Given the description of an element on the screen output the (x, y) to click on. 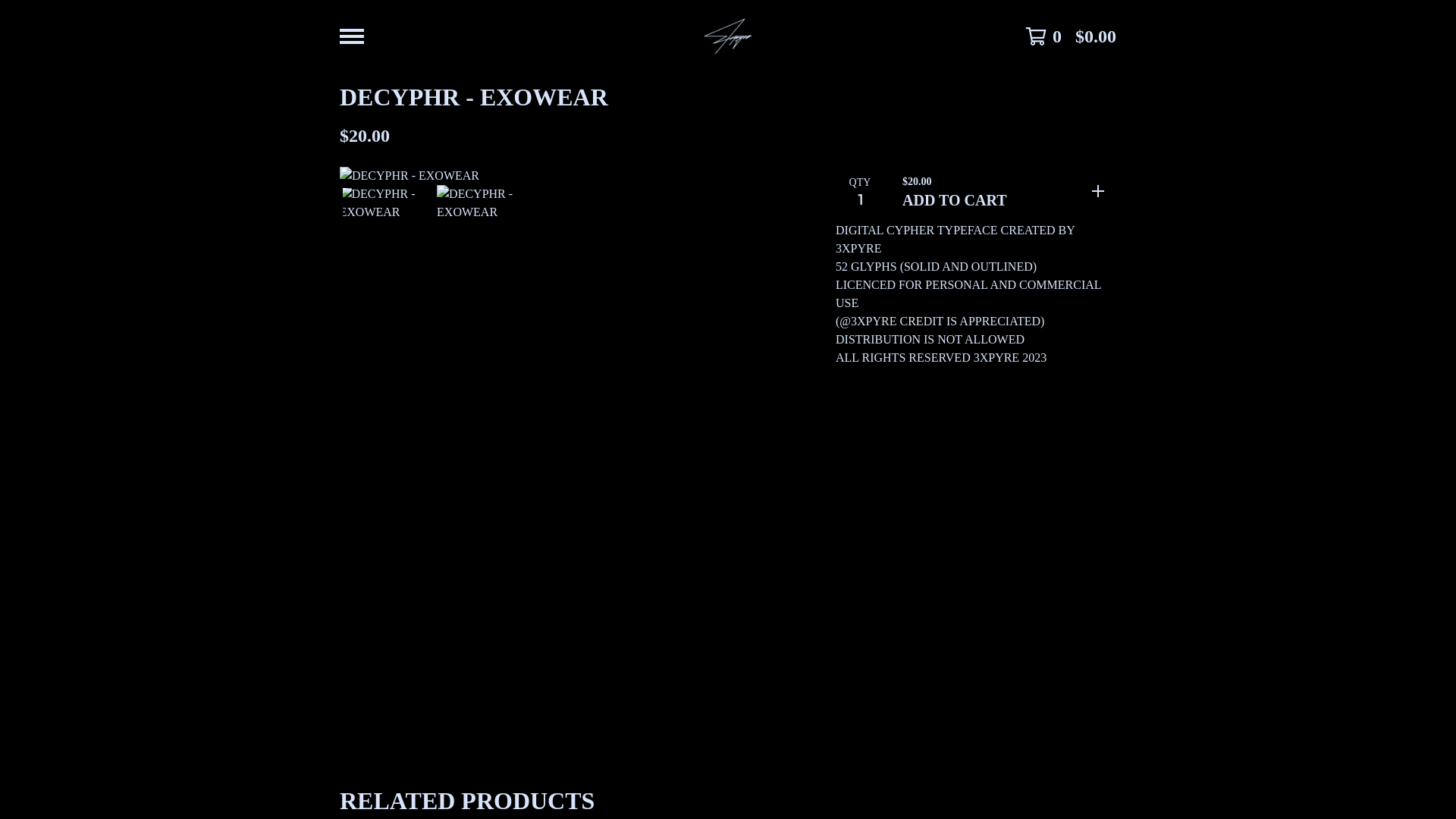
Home Element type: hover (727, 36)
Open menu Element type: hover (351, 35)
0
$0.00 Element type: text (1070, 36)
$20.00
ADD TO CART Element type: text (1003, 190)
